Given the description of an element on the screen output the (x, y) to click on. 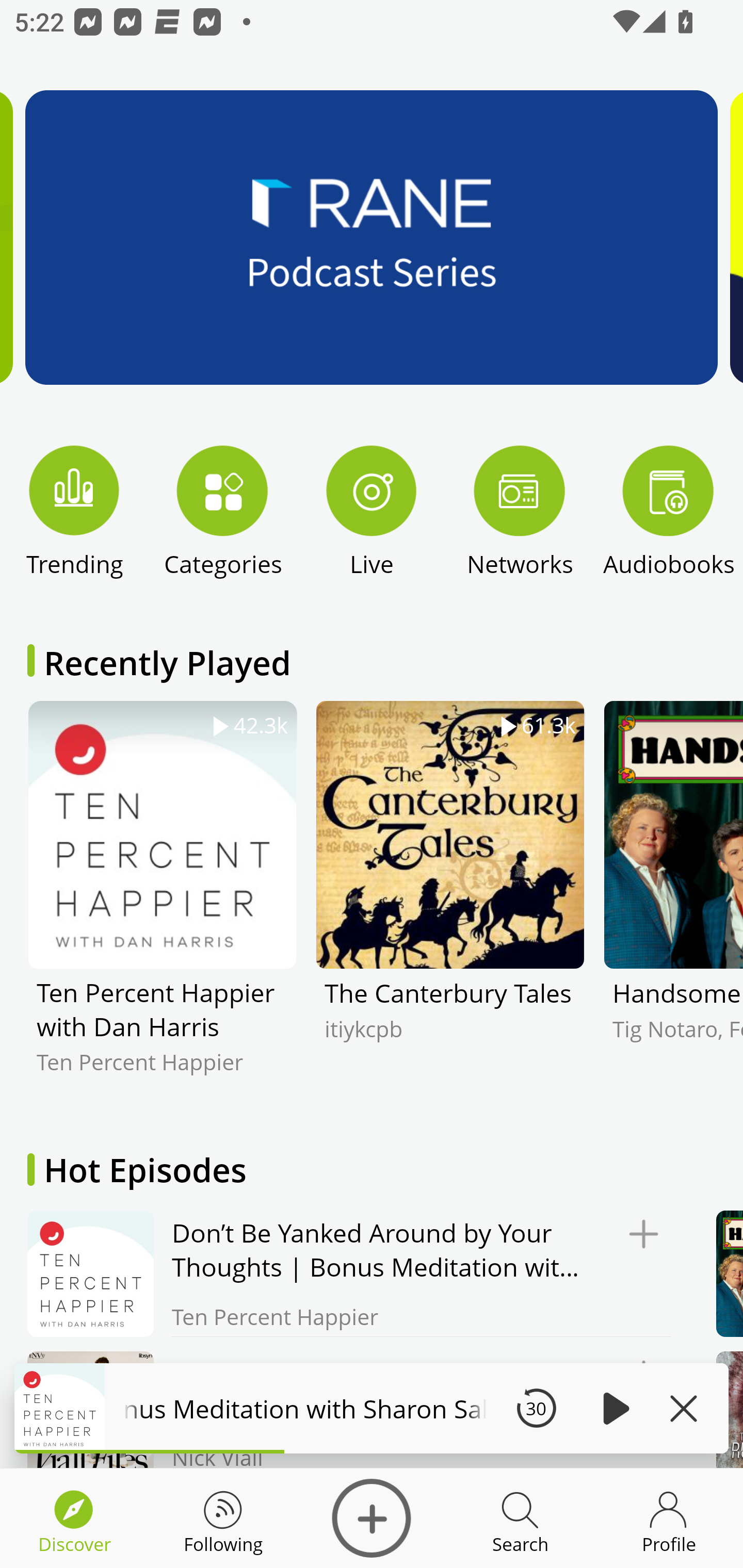
61.3k The Canterbury Tales itiykcpb (450, 902)
Handsome Tig Notaro, Fortune Feimster, Mae Martin (673, 902)
Play (613, 1407)
30 Seek Backward (536, 1407)
Discover Following (222, 1518)
Discover (371, 1518)
Discover Search (519, 1518)
Discover Profile (668, 1518)
